Given the description of an element on the screen output the (x, y) to click on. 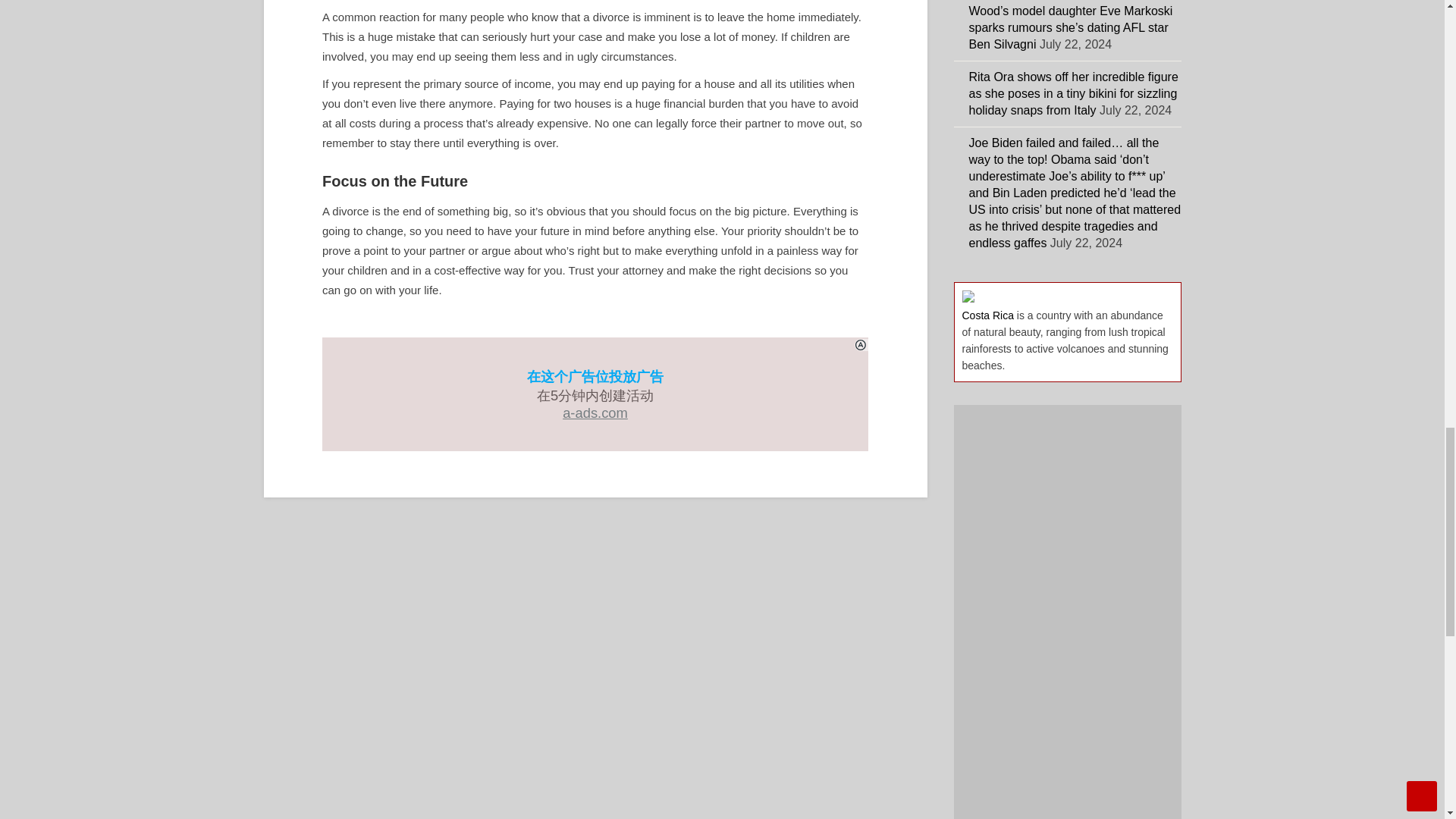
Costa Rica (986, 315)
